Given the description of an element on the screen output the (x, y) to click on. 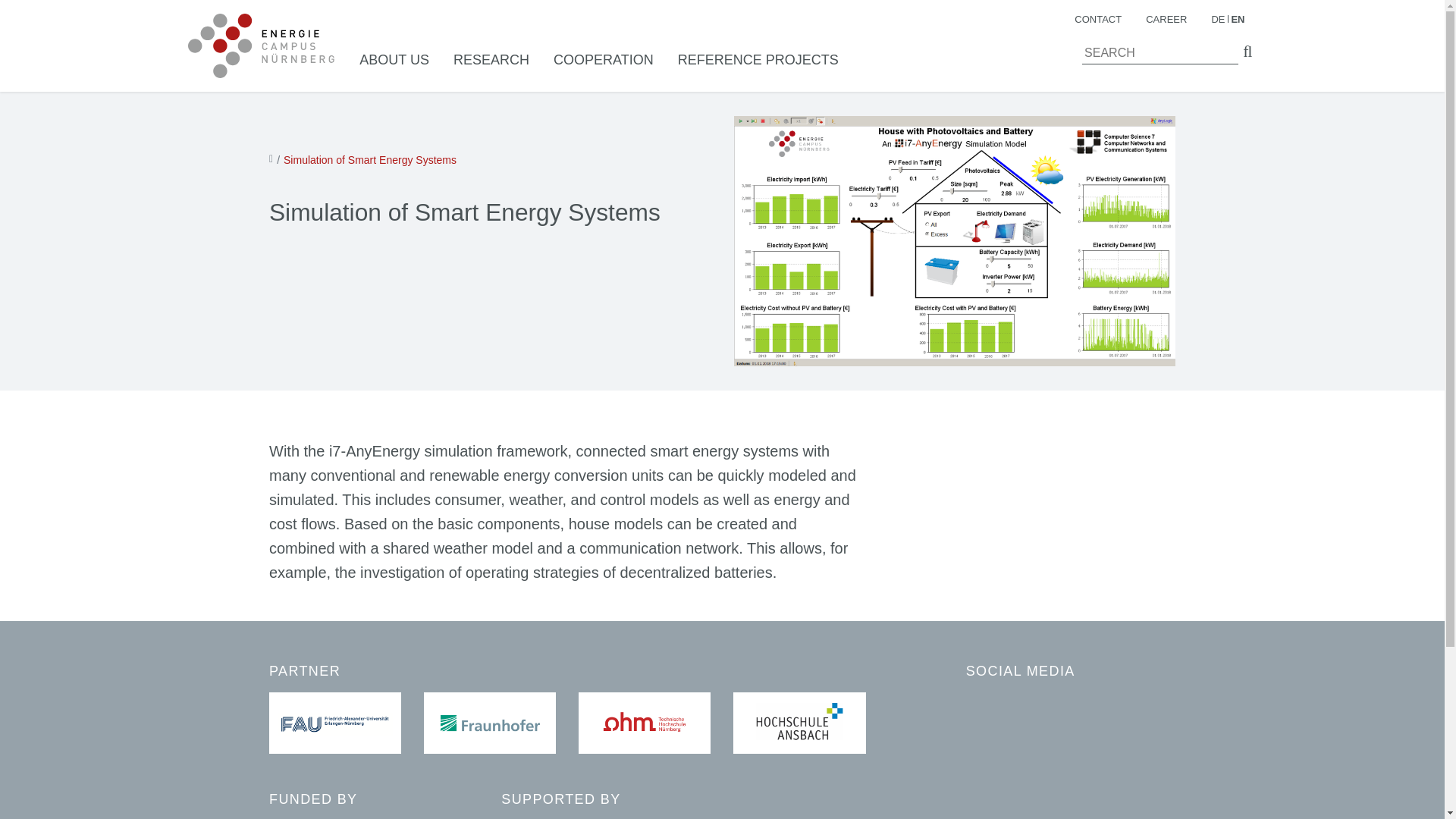
Fraunhofer-Gesellschaft (489, 723)
CONTACT (1097, 19)
RESEARCH (490, 60)
CAREER (1165, 19)
ABOUT US (394, 60)
Hochschule Ansbach (798, 723)
